Given the description of an element on the screen output the (x, y) to click on. 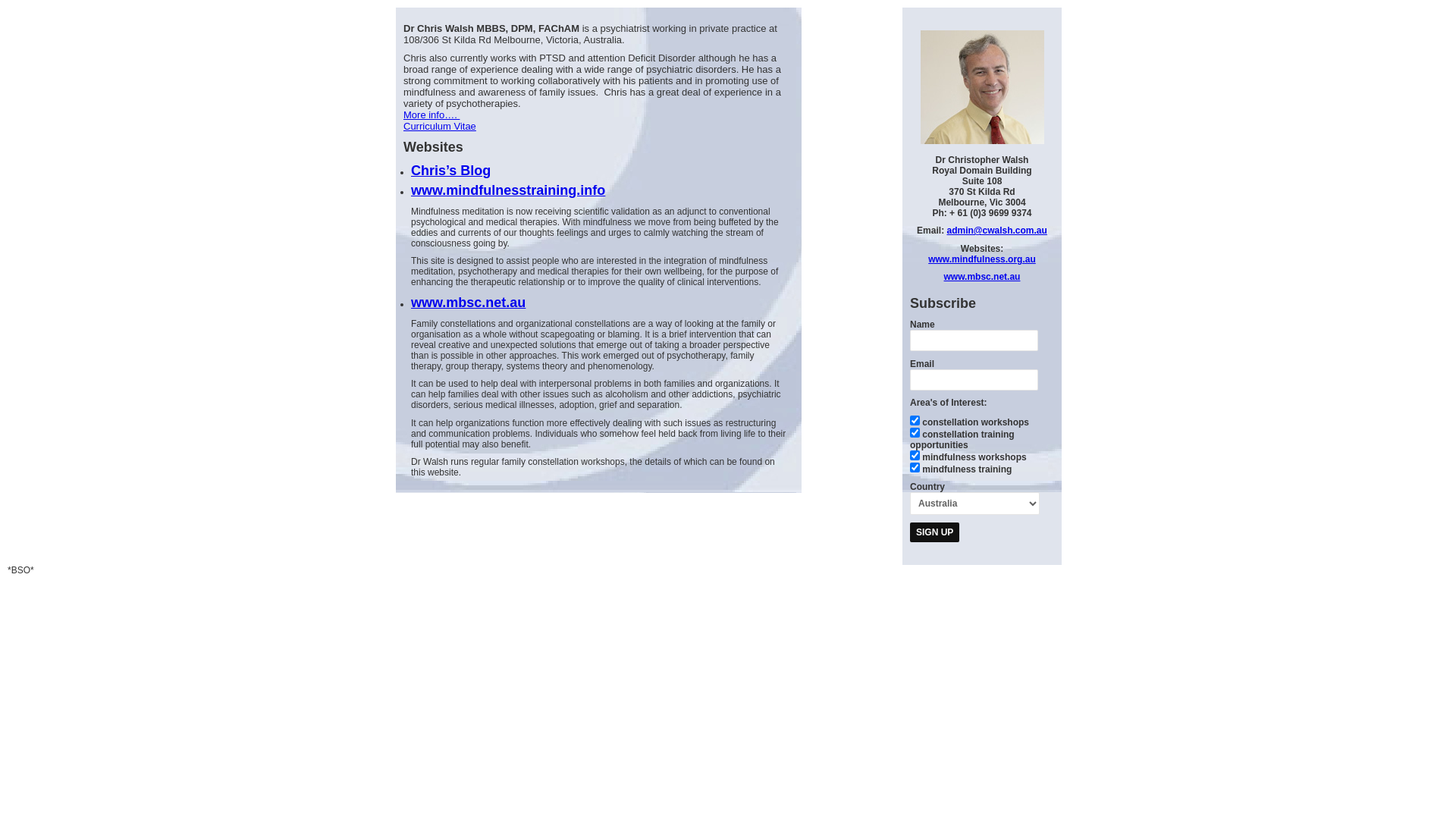
www.mindfulness.org.au Element type: text (981, 259)
www.mbsc.net.au Element type: text (982, 276)
www.mindfulnesstraining.info Element type: text (508, 189)
admin@cwalsh.com.au Element type: text (996, 230)
Sign Up Element type: text (934, 532)
www.mbsc.net.au Element type: text (468, 302)
Curriculum Vitae Element type: text (439, 125)
